Given the description of an element on the screen output the (x, y) to click on. 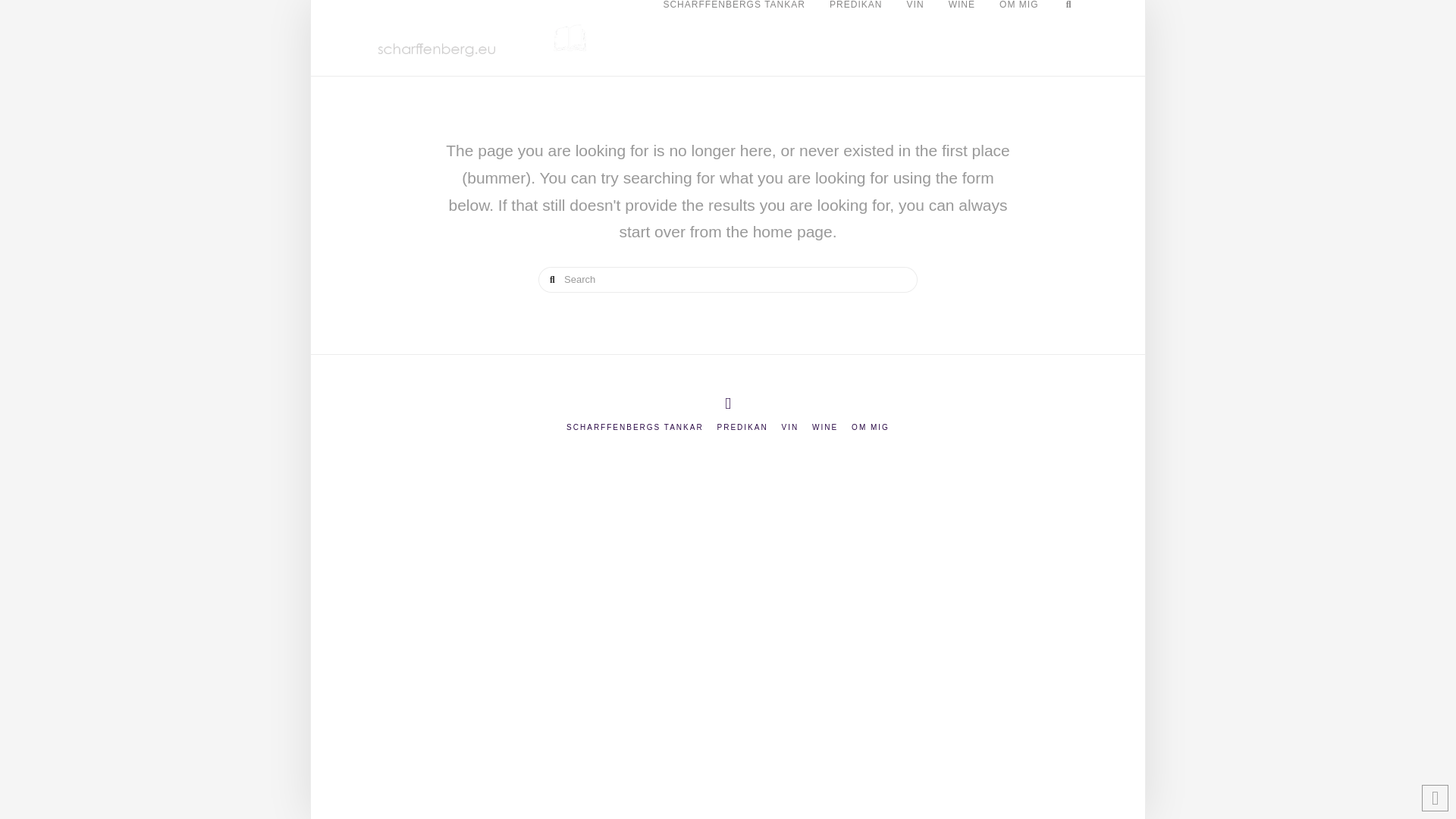
OM MIG (870, 427)
SCHARFFENBERGS TANKAR (733, 18)
PREDIKAN (855, 18)
OM MIG (1018, 18)
WINE (961, 18)
VIN (915, 18)
Back to Top (1435, 797)
PREDIKAN (742, 427)
WINE (825, 427)
VIN (790, 427)
SCHARFFENBERGS TANKAR (634, 427)
